Given the description of an element on the screen output the (x, y) to click on. 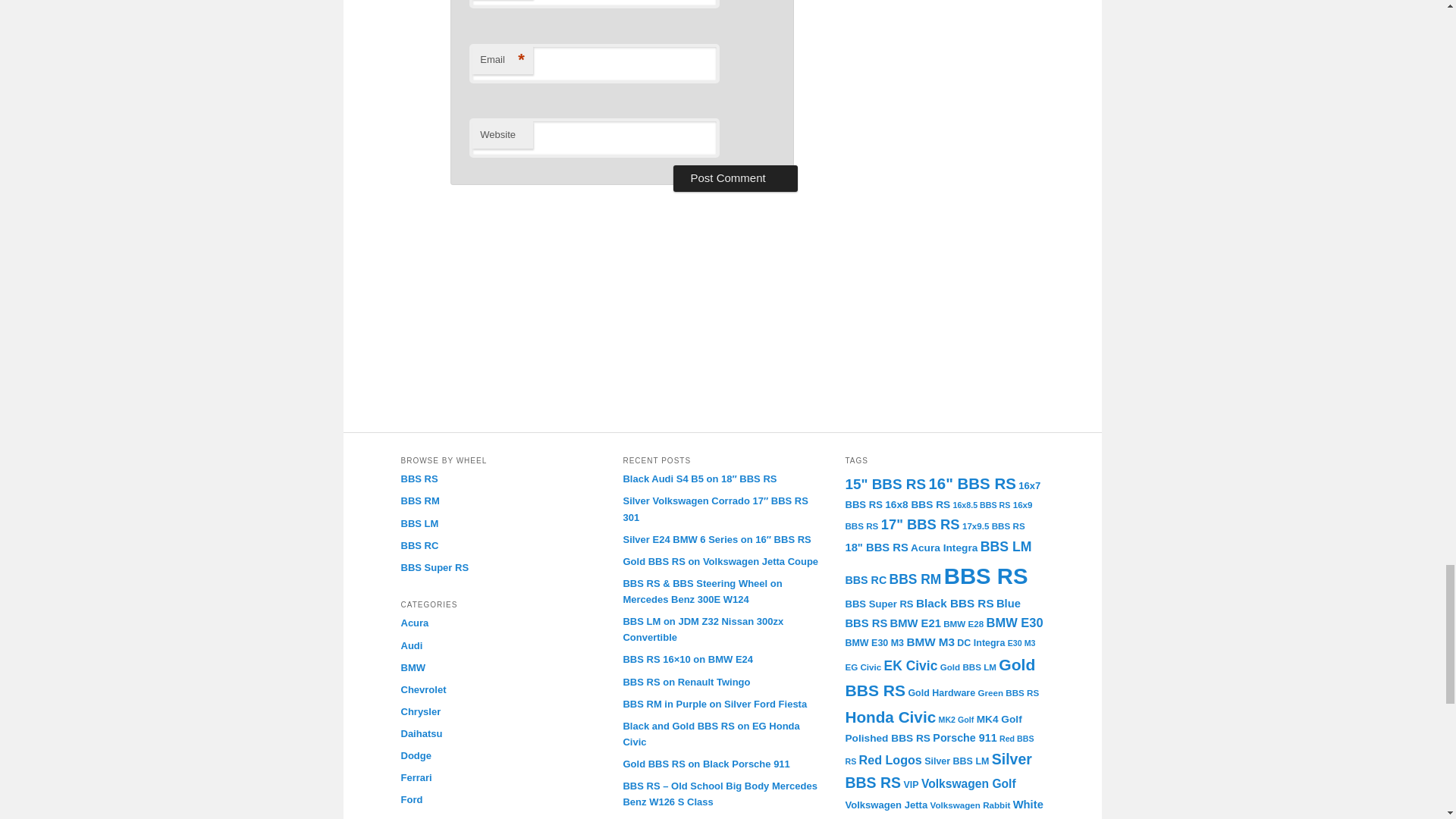
Post Comment (734, 177)
Post Comment (734, 177)
